Given the description of an element on the screen output the (x, y) to click on. 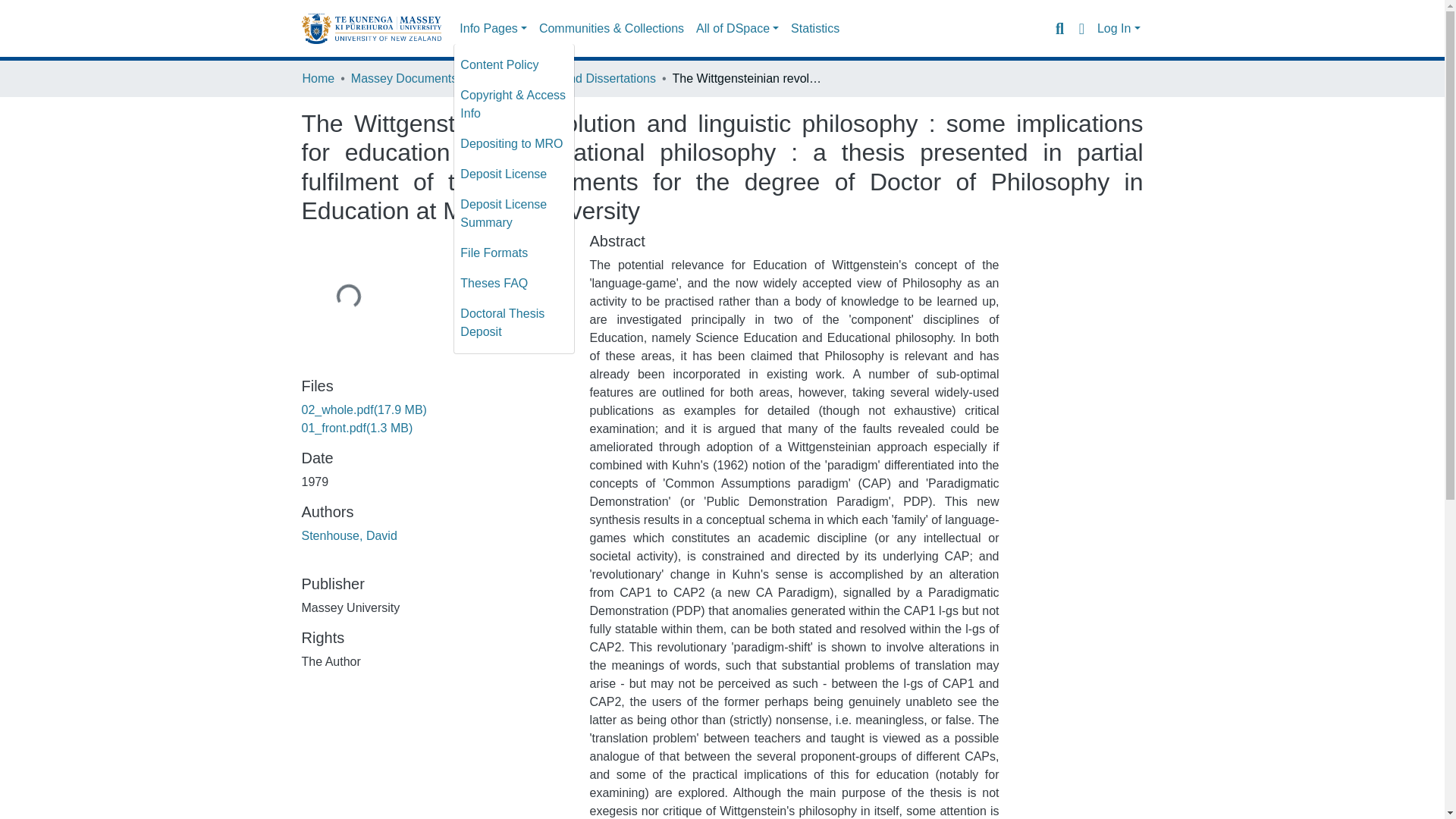
Search (1058, 28)
Statistics (814, 28)
Log In (1118, 28)
Deposit License (513, 173)
Depositing to MRO (513, 143)
Statistics (814, 28)
Content Policy (513, 64)
Massey Documents by Type (426, 78)
Stenhouse, David (349, 535)
Theses and Dissertations (587, 78)
Doctoral Thesis Deposit (513, 322)
Language switch (1081, 28)
File Formats (513, 253)
Home (317, 78)
Theses FAQ (513, 283)
